Given the description of an element on the screen output the (x, y) to click on. 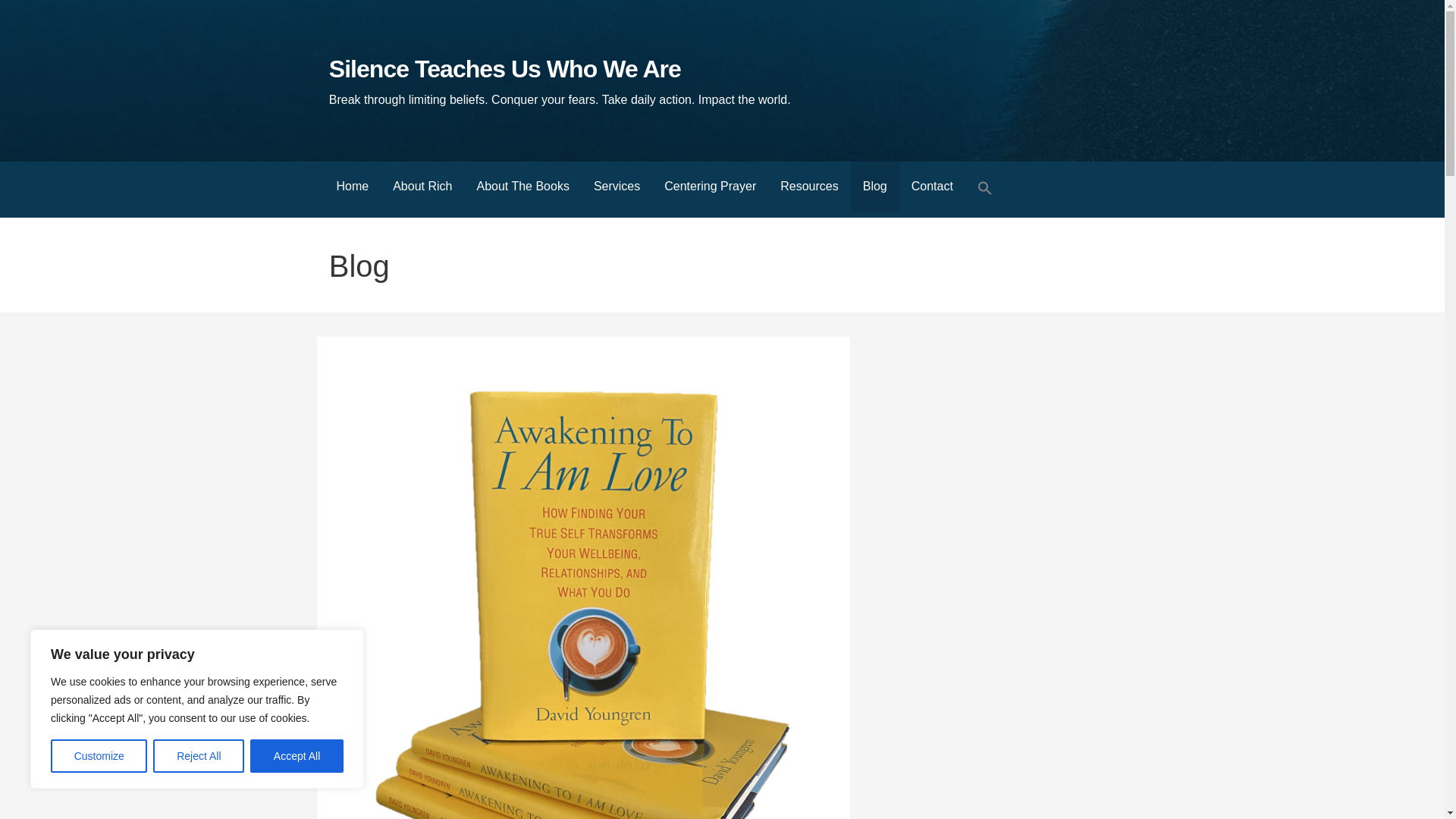
Blog (874, 186)
Services (616, 186)
About The Books (522, 186)
Centering Prayer (710, 186)
About Rich (422, 186)
Customize (98, 756)
Silence Teaches Us Who We Are (505, 68)
Contact (932, 186)
Accept All (296, 756)
Resources (809, 186)
